Given the description of an element on the screen output the (x, y) to click on. 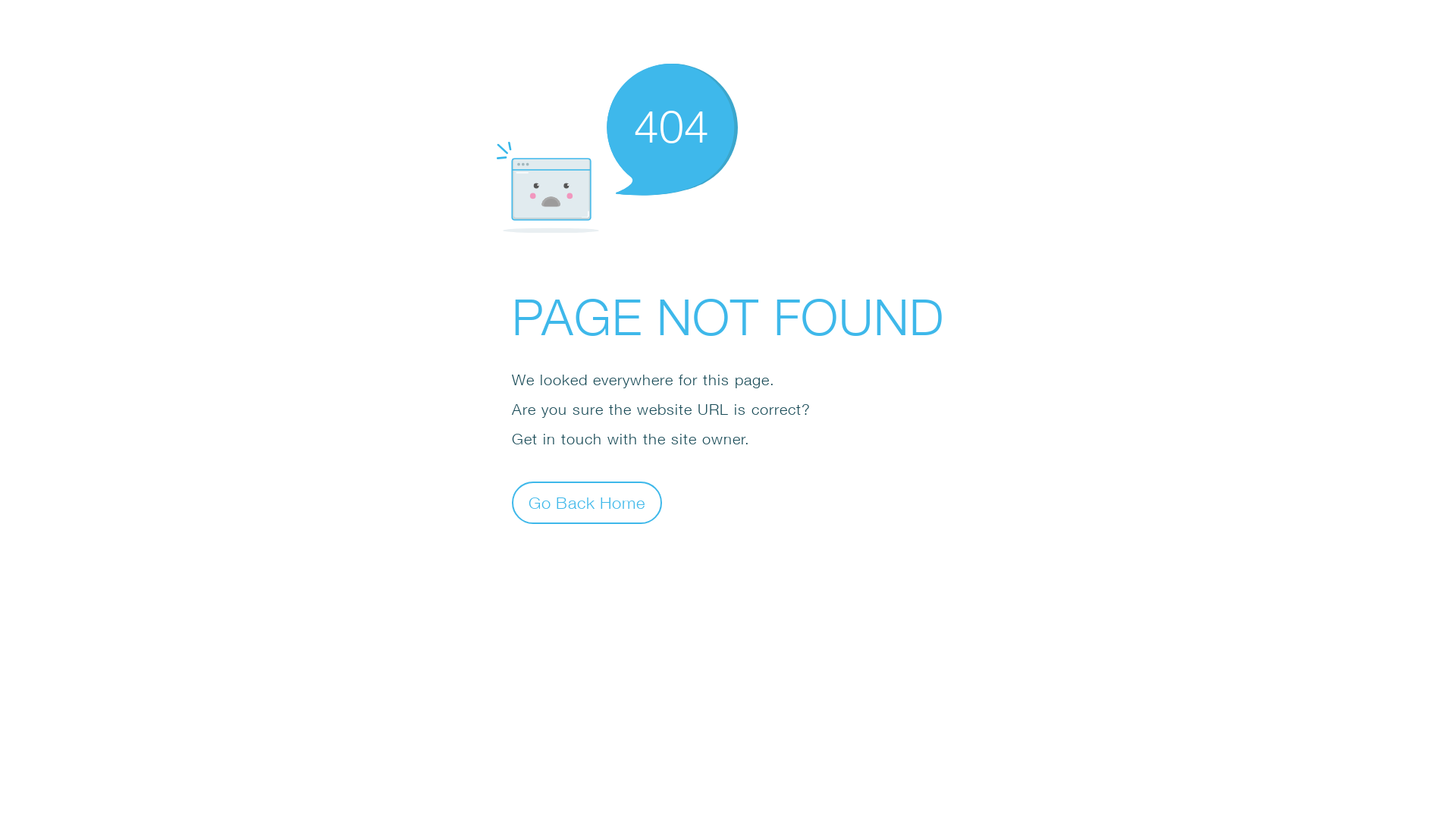
Go Back Home Element type: text (586, 502)
